Given the description of an element on the screen output the (x, y) to click on. 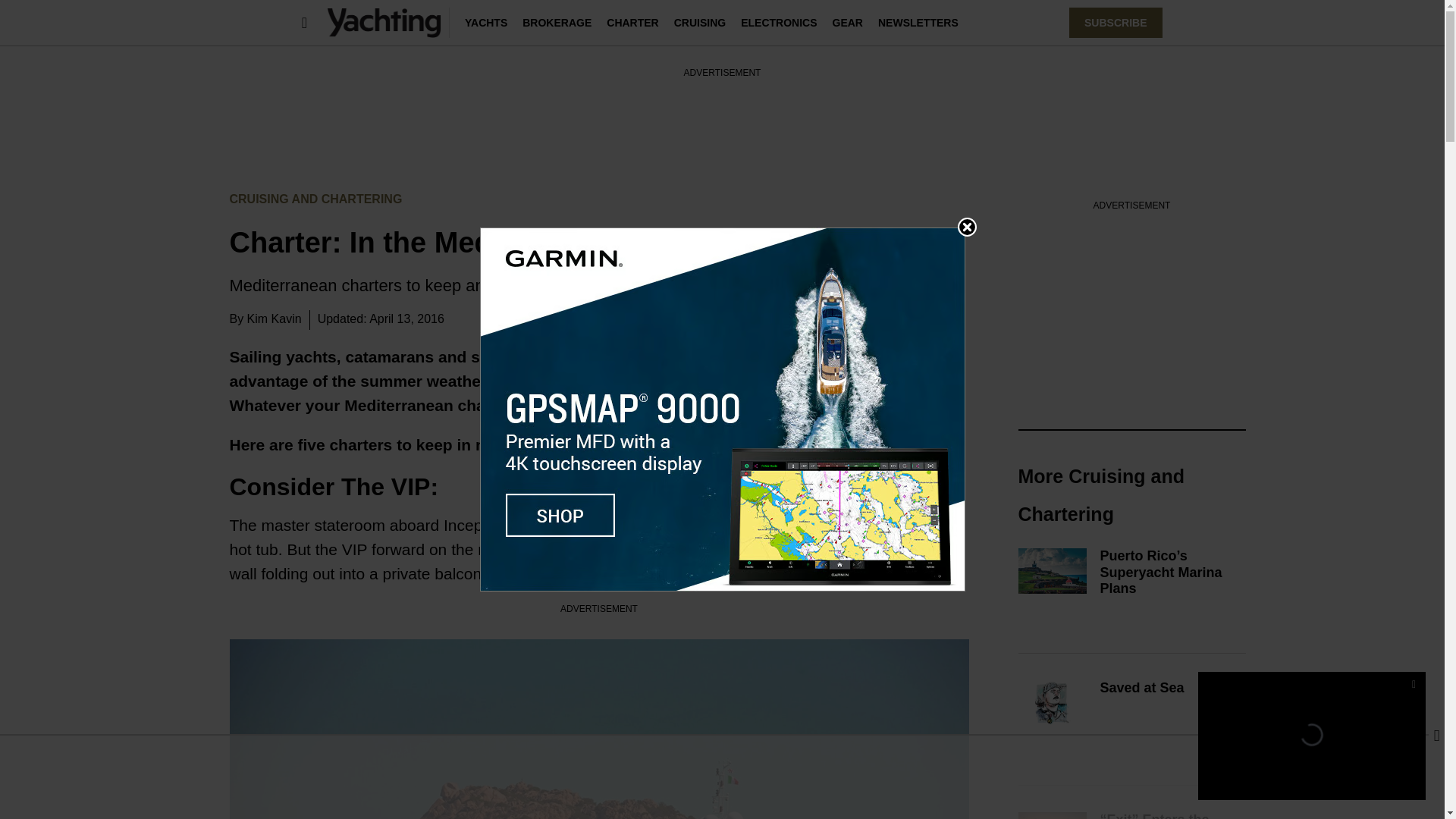
CRUISING (699, 22)
BROKERAGE (556, 22)
YACHTS (485, 22)
3rd party ad content (721, 114)
GEAR (847, 22)
SUBSCRIBE (1114, 22)
NEWSLETTERS (917, 22)
CHARTER (632, 22)
ELECTRONICS (778, 22)
